Given the description of an element on the screen output the (x, y) to click on. 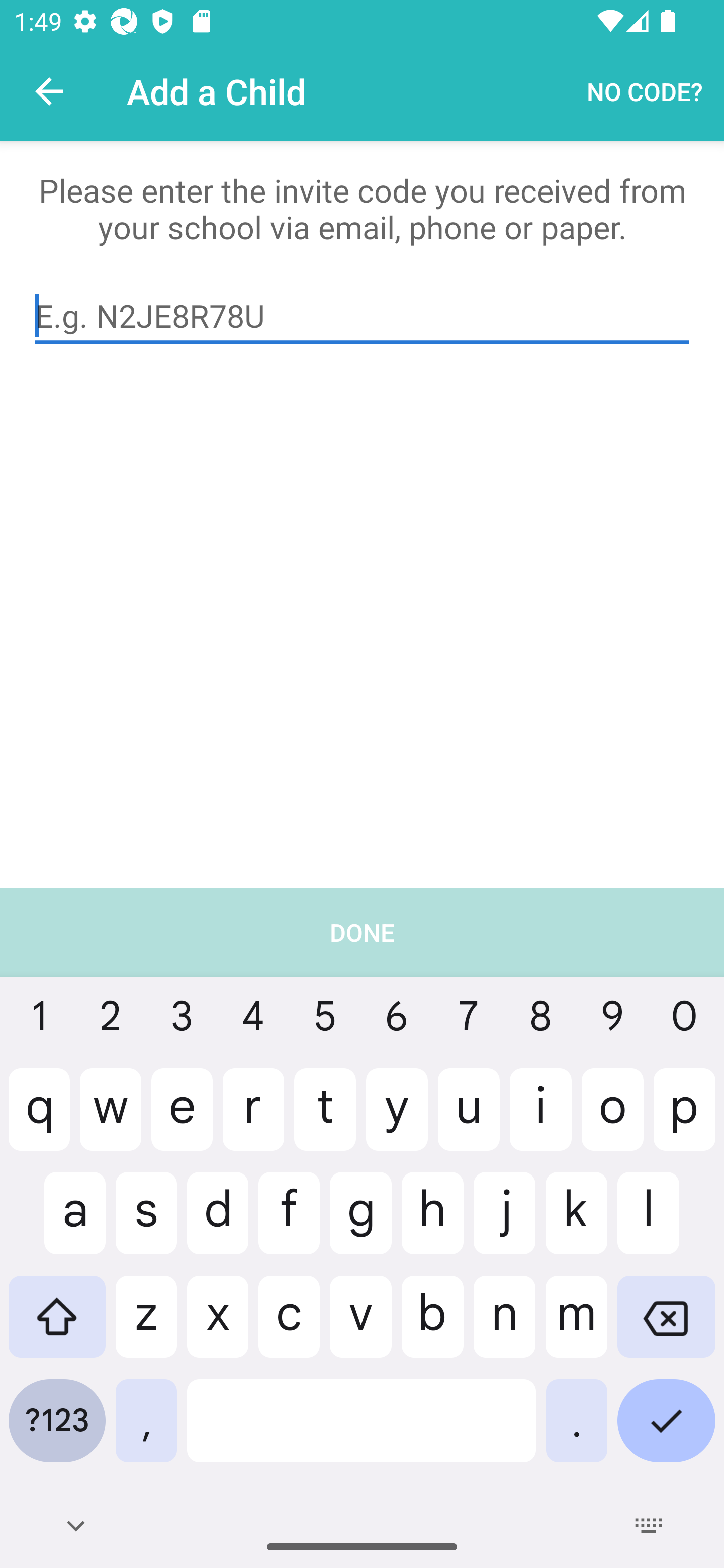
Navigate up (49, 91)
NO CODE? (644, 90)
E.g. N2JE8R78U (361, 315)
DONE (362, 1227)
